Given the description of an element on the screen output the (x, y) to click on. 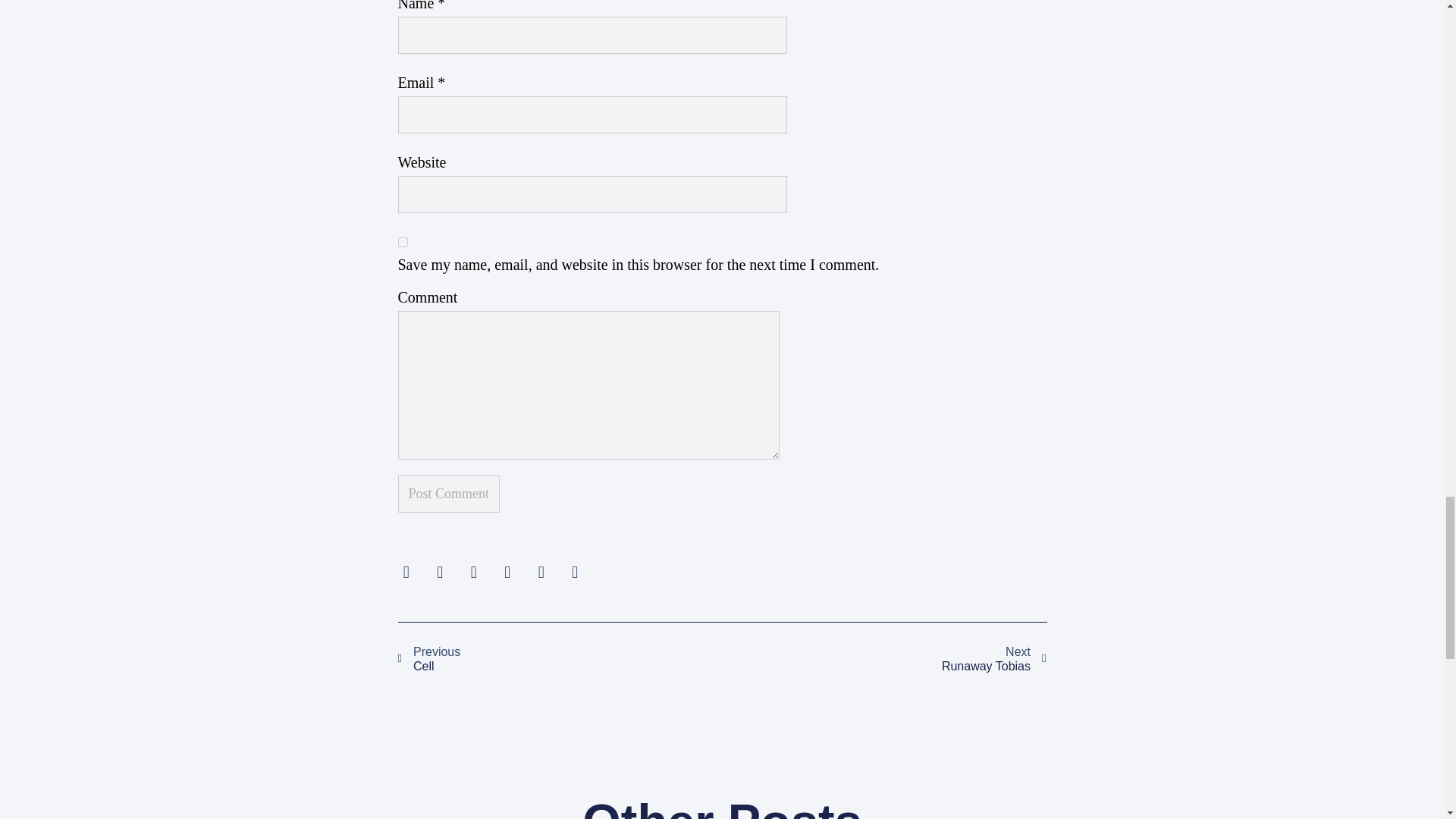
Post Comment (448, 493)
yes (559, 659)
Post Comment (402, 242)
